Given the description of an element on the screen output the (x, y) to click on. 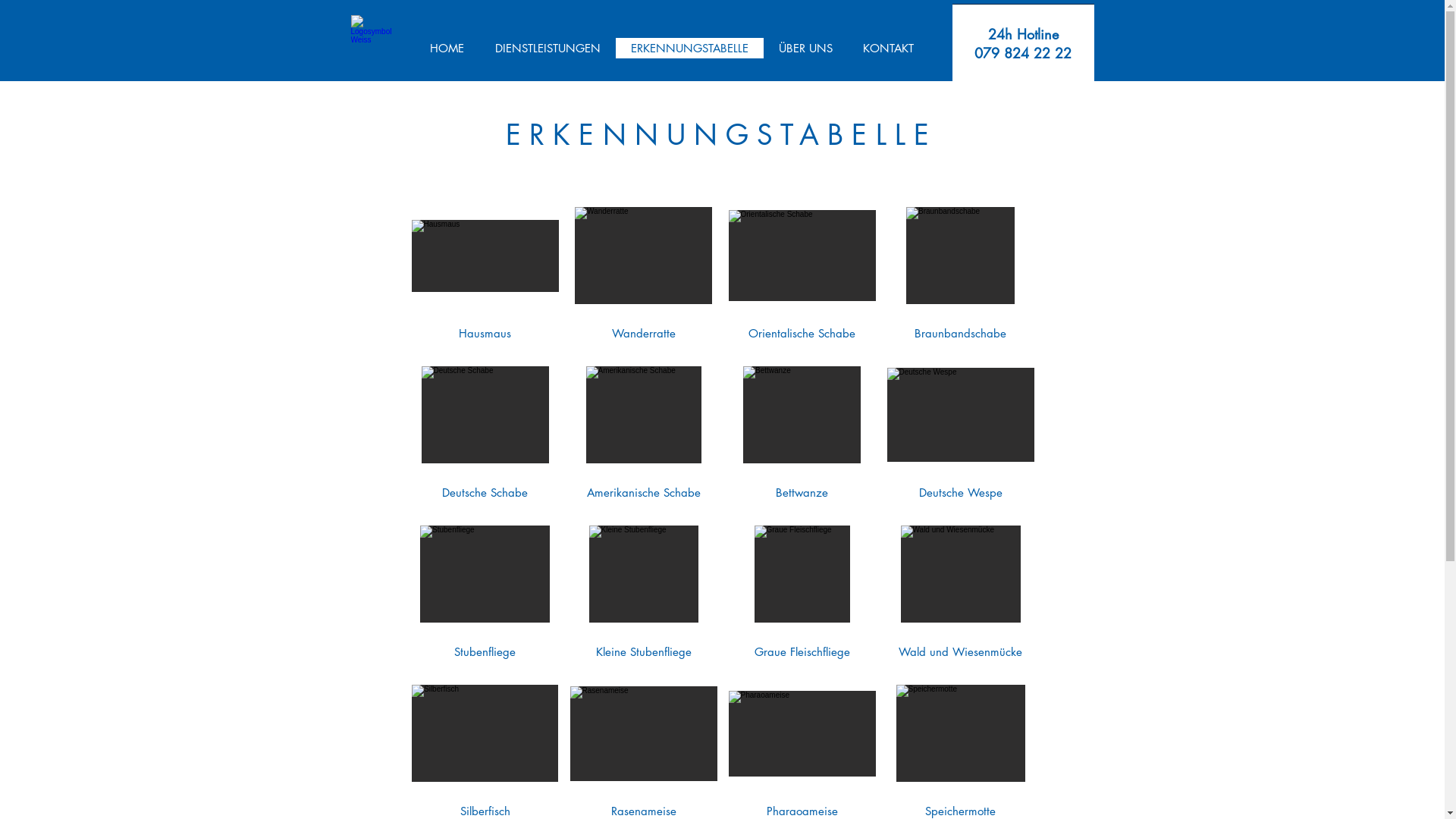
KONTAKT Element type: text (887, 47)
079 824 22 22 Element type: text (1022, 52)
DIENSTLEISTUNGEN Element type: text (547, 47)
ERKENNUNGSTABELLE Element type: text (689, 47)
HOME Element type: text (446, 47)
